Given the description of an element on the screen output the (x, y) to click on. 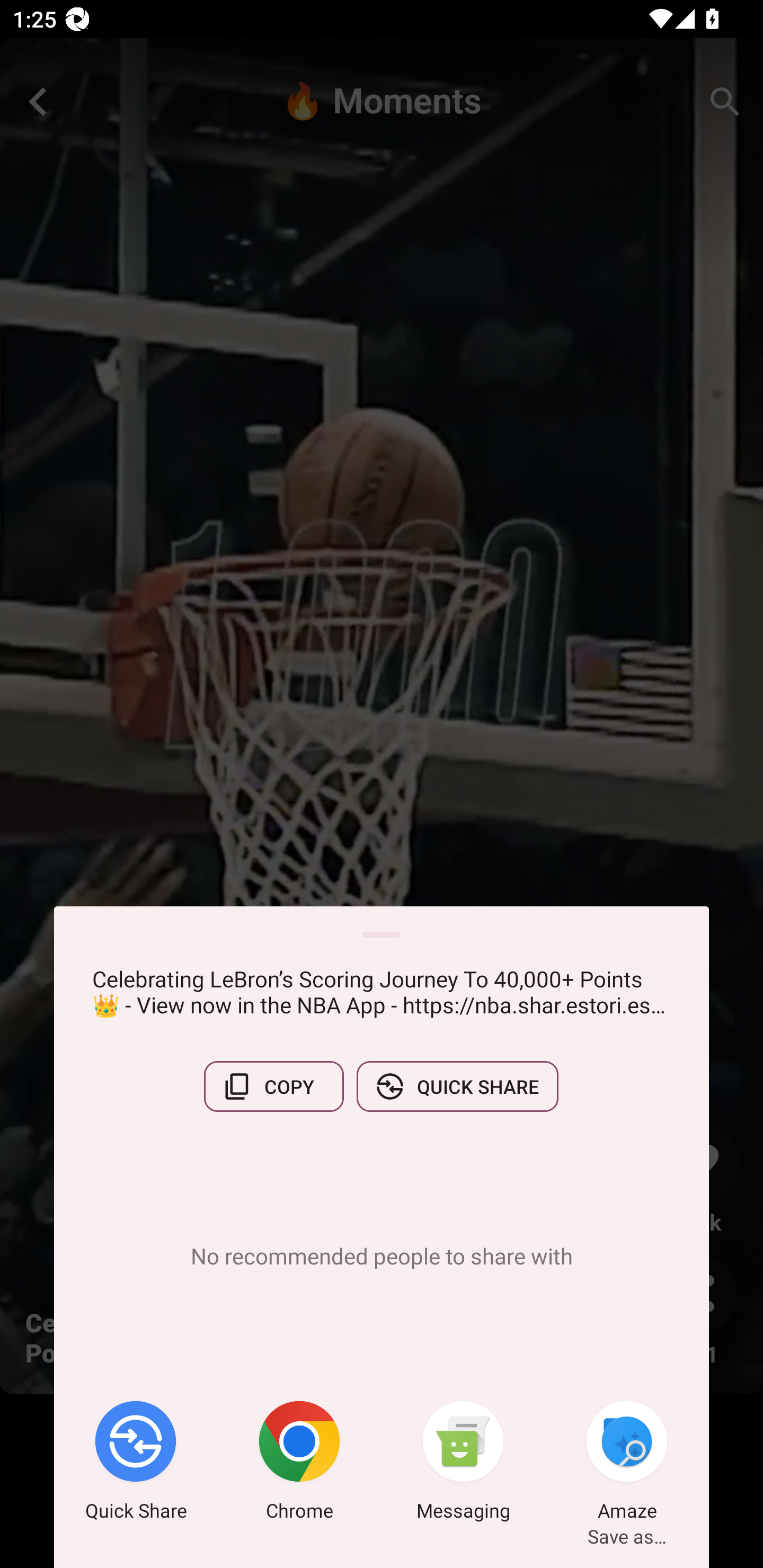
COPY (273, 1086)
QUICK SHARE (457, 1086)
Quick Share (135, 1463)
Chrome (299, 1463)
Messaging (463, 1463)
Amaze Save as… (626, 1463)
